Given the description of an element on the screen output the (x, y) to click on. 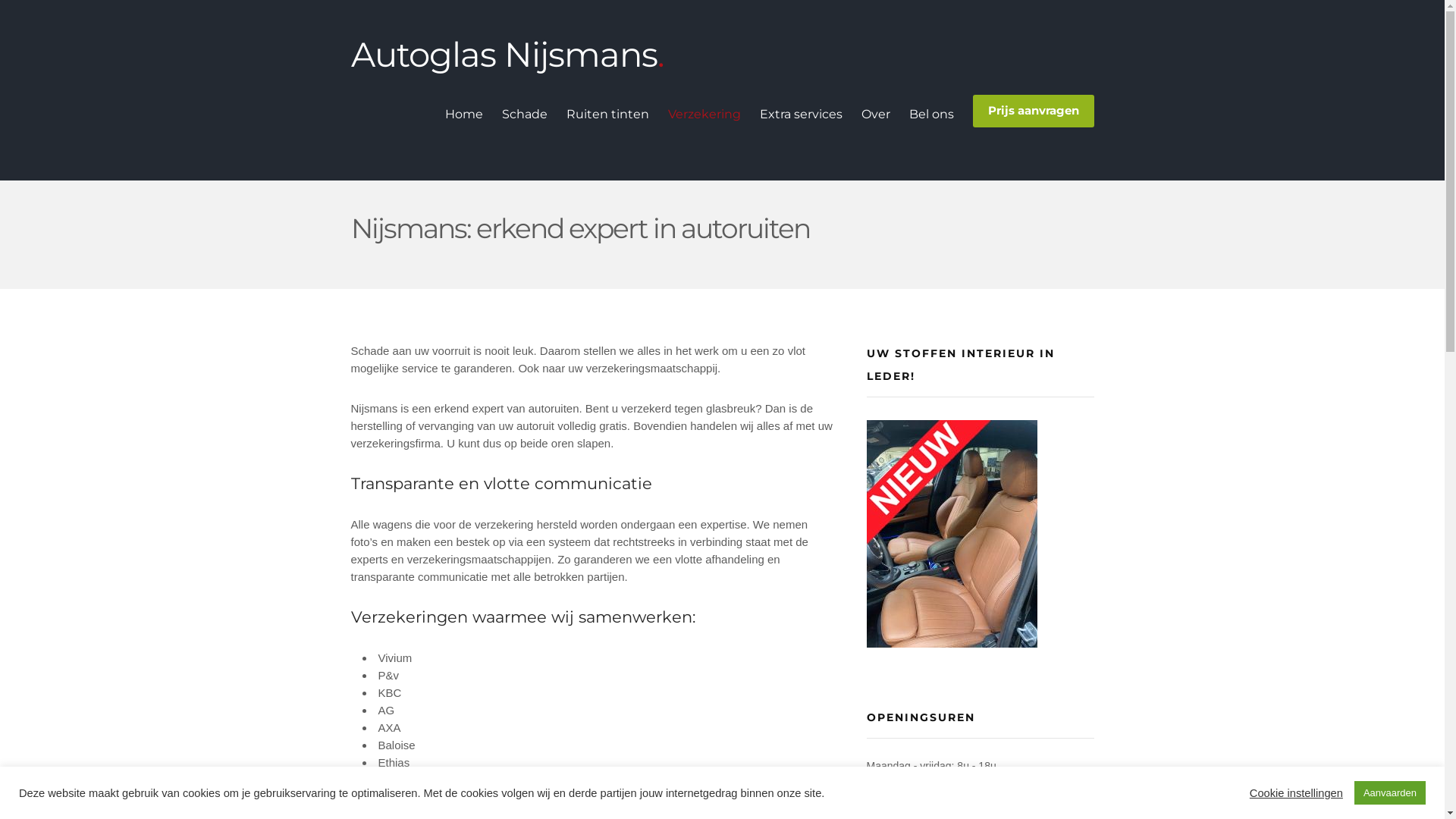
Verzekering Element type: text (703, 114)
Schade Element type: text (524, 114)
Extra services Element type: text (800, 114)
Home Element type: text (463, 114)
Prijs aanvragen Element type: text (1032, 110)
Bel ons Element type: text (930, 114)
Cookie instellingen Element type: text (1296, 792)
Over Element type: text (875, 114)
Aanvaarden Element type: text (1389, 792)
Ruiten tinten Element type: text (606, 114)
Autoglas Nijsmans Element type: text (506, 54)
